Given the description of an element on the screen output the (x, y) to click on. 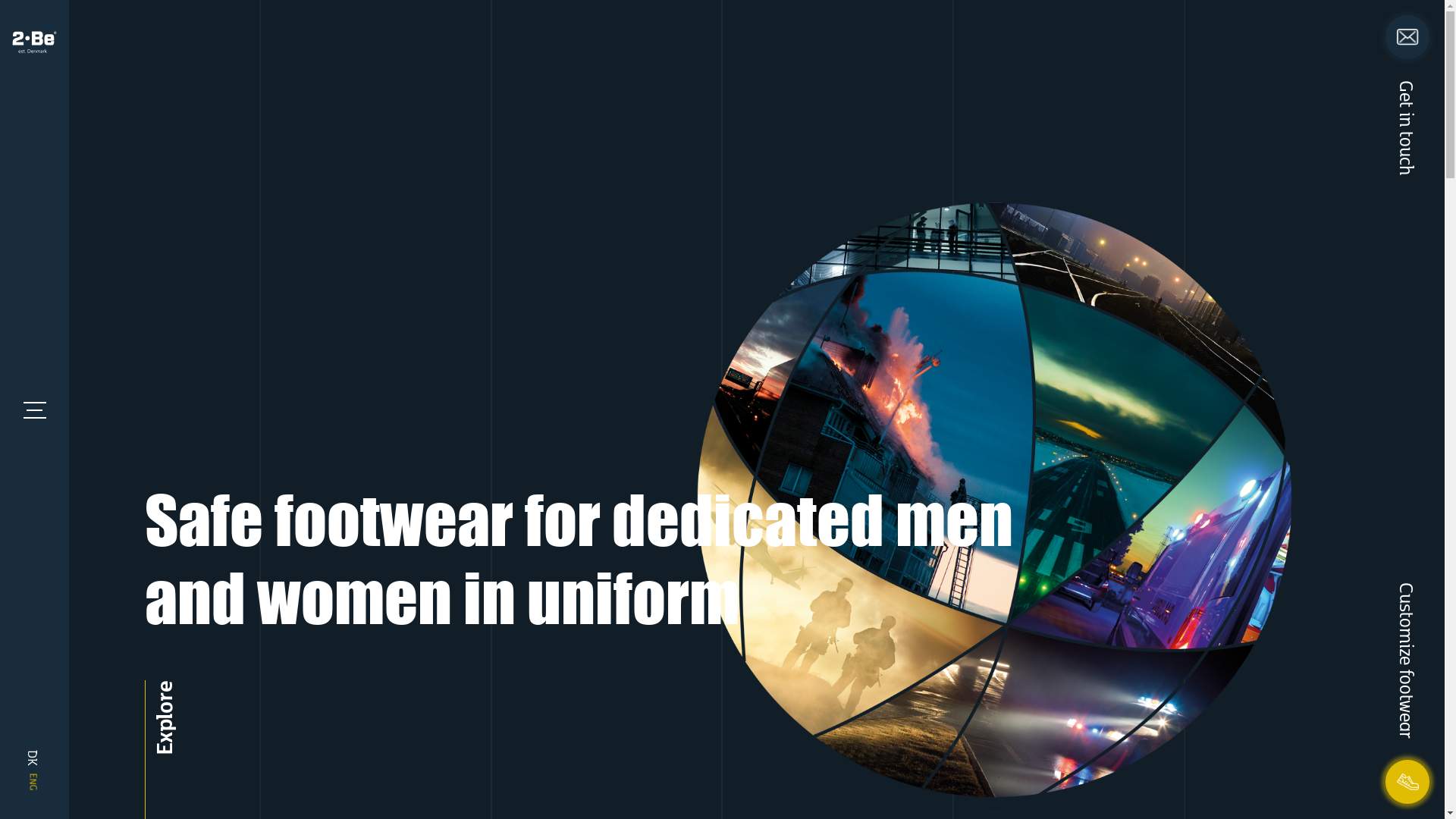
Explore Element type: text (162, 717)
ENG Element type: text (56, 774)
Customize footwear Element type: text (1407, 660)
DK Element type: text (33, 753)
Get in touch Element type: text (1407, 127)
